Given the description of an element on the screen output the (x, y) to click on. 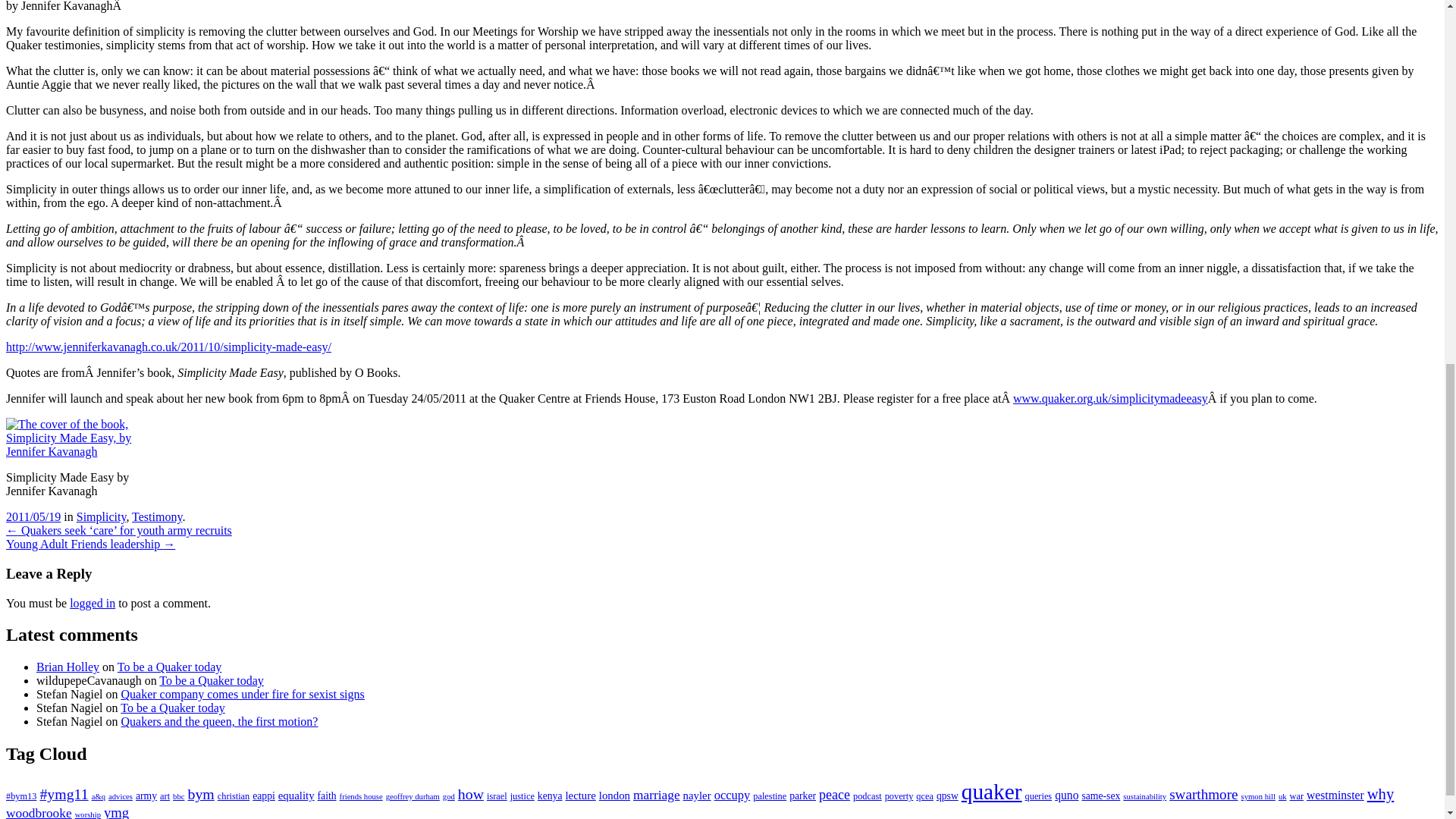
JK (168, 346)
Simplicity (101, 516)
Simplicity Made Easy by Jennifer Kavanagh (81, 437)
Testimony (157, 516)
